Given the description of an element on the screen output the (x, y) to click on. 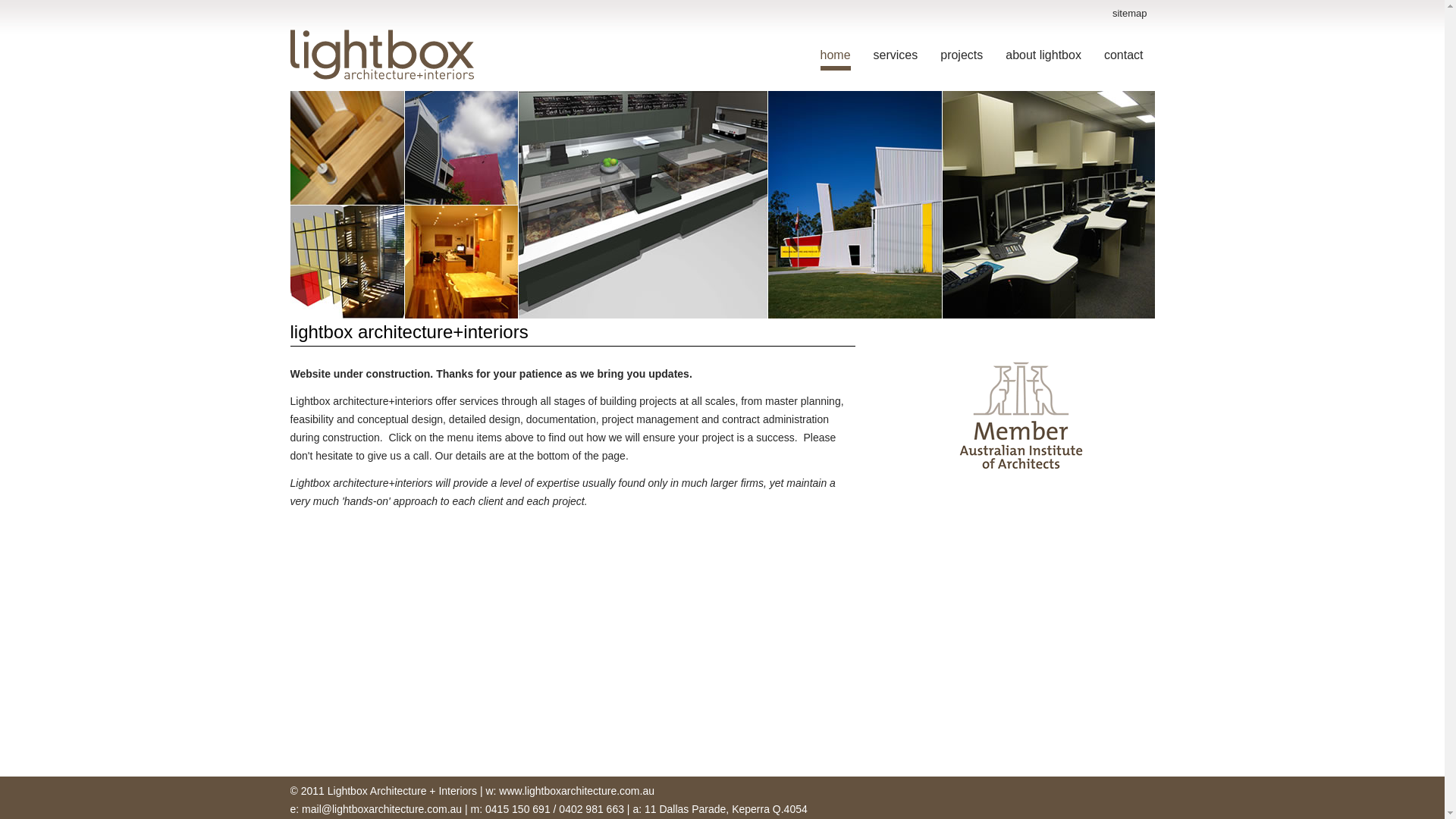
w: www.lightboxarchitecture.com.au Element type: text (569, 790)
sitemap Element type: text (1129, 12)
about lightbox Element type: text (1043, 57)
projects Element type: text (961, 57)
home Element type: text (835, 57)
contact Element type: text (1123, 57)
Australian Institute of Architects  Element type: hover (1020, 415)
services Element type: text (895, 57)
mail@lightboxarchitecture.com.au Element type: text (381, 809)
